Given the description of an element on the screen output the (x, y) to click on. 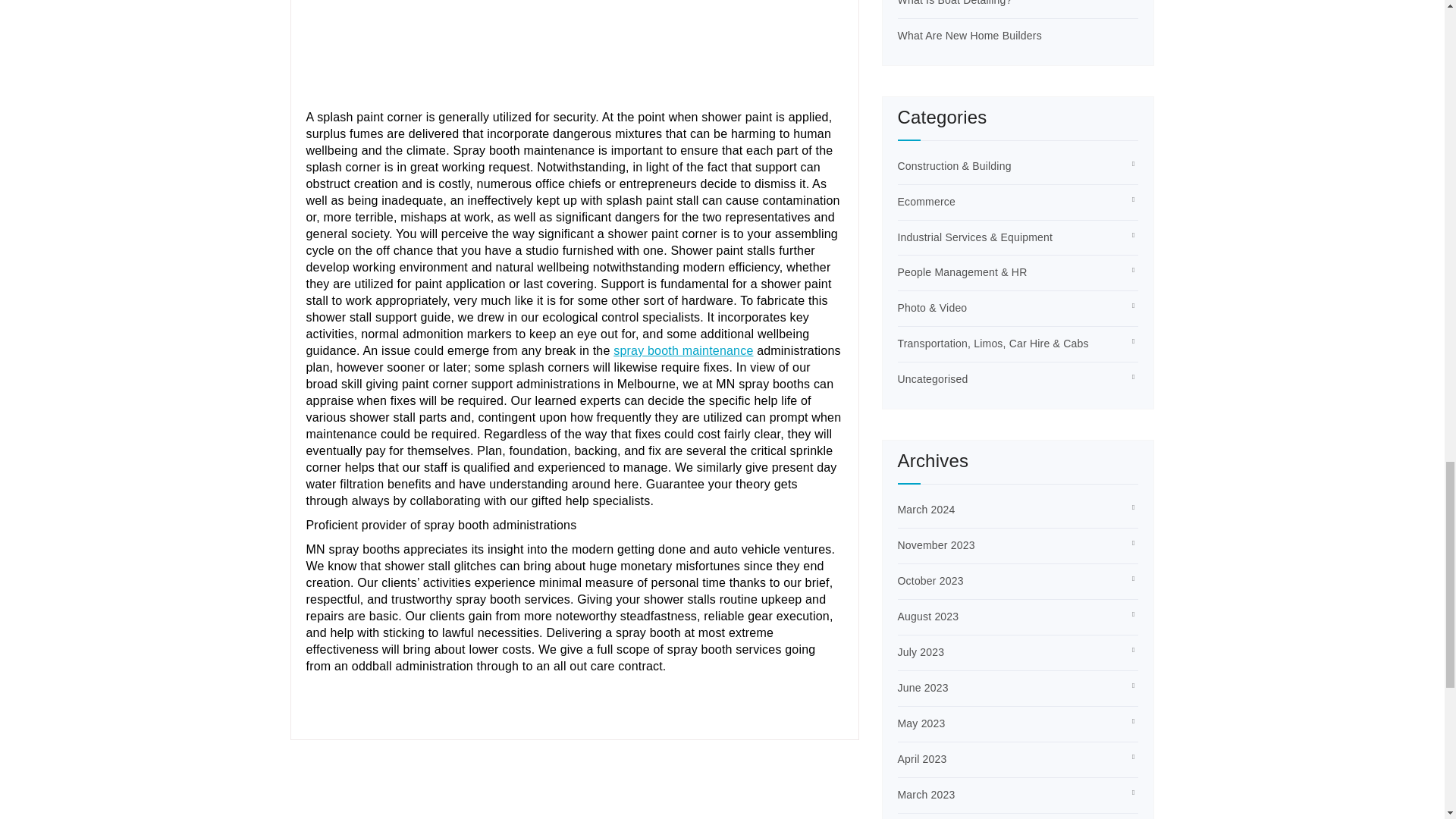
March 2024 (926, 509)
spray booth maintenance (682, 350)
November 2023 (936, 544)
August 2023 (928, 616)
spray booth maintenance (574, 50)
What Is Boat Detailing? (954, 2)
Uncategorised (933, 378)
What Are New Home Builders (970, 35)
October 2023 (930, 580)
spray booth maintenance (682, 350)
